Given the description of an element on the screen output the (x, y) to click on. 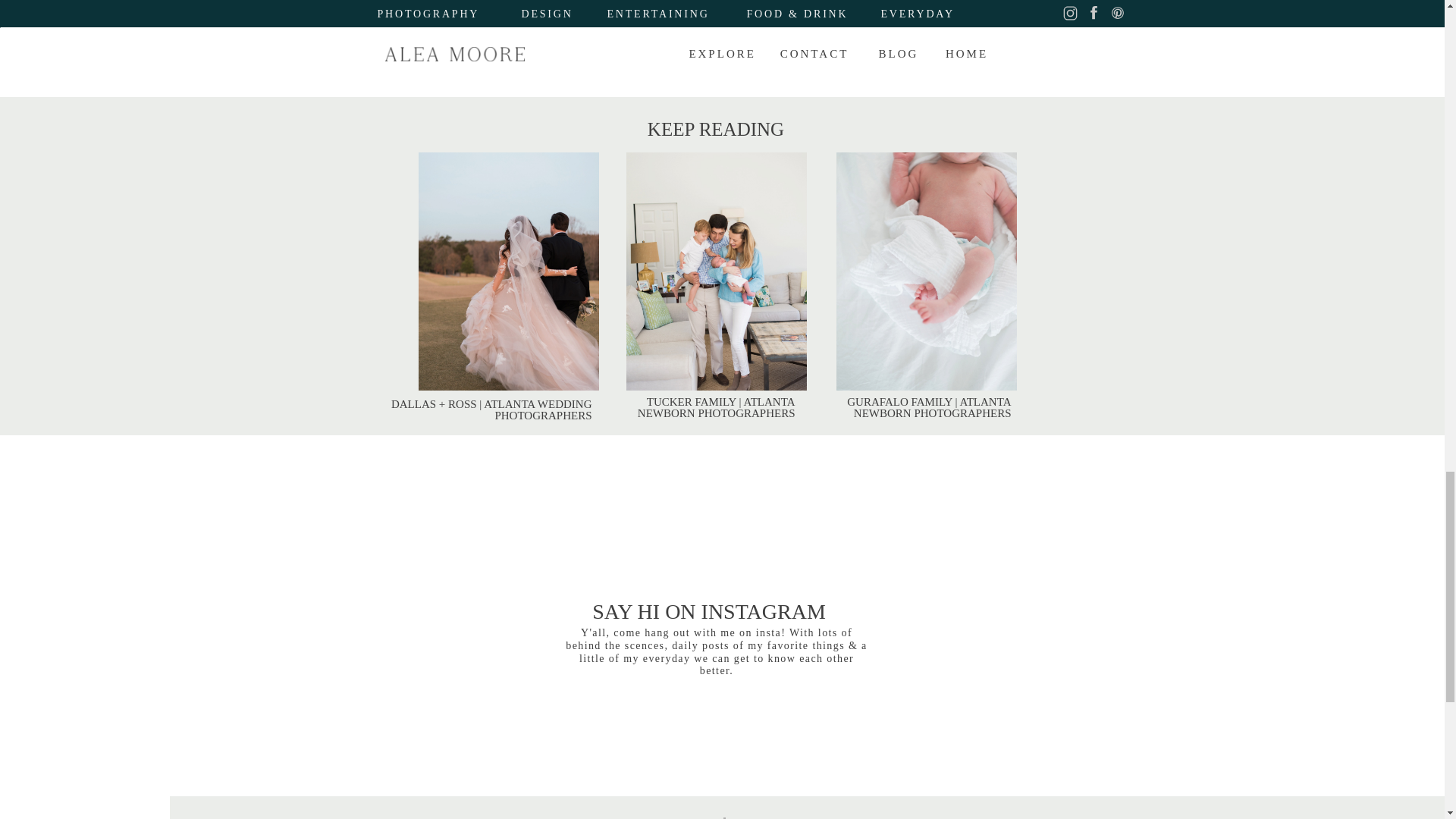
BABY ANNABETH (505, 52)
Post Comment (460, 0)
Post Comment (460, 0)
